Given the description of an element on the screen output the (x, y) to click on. 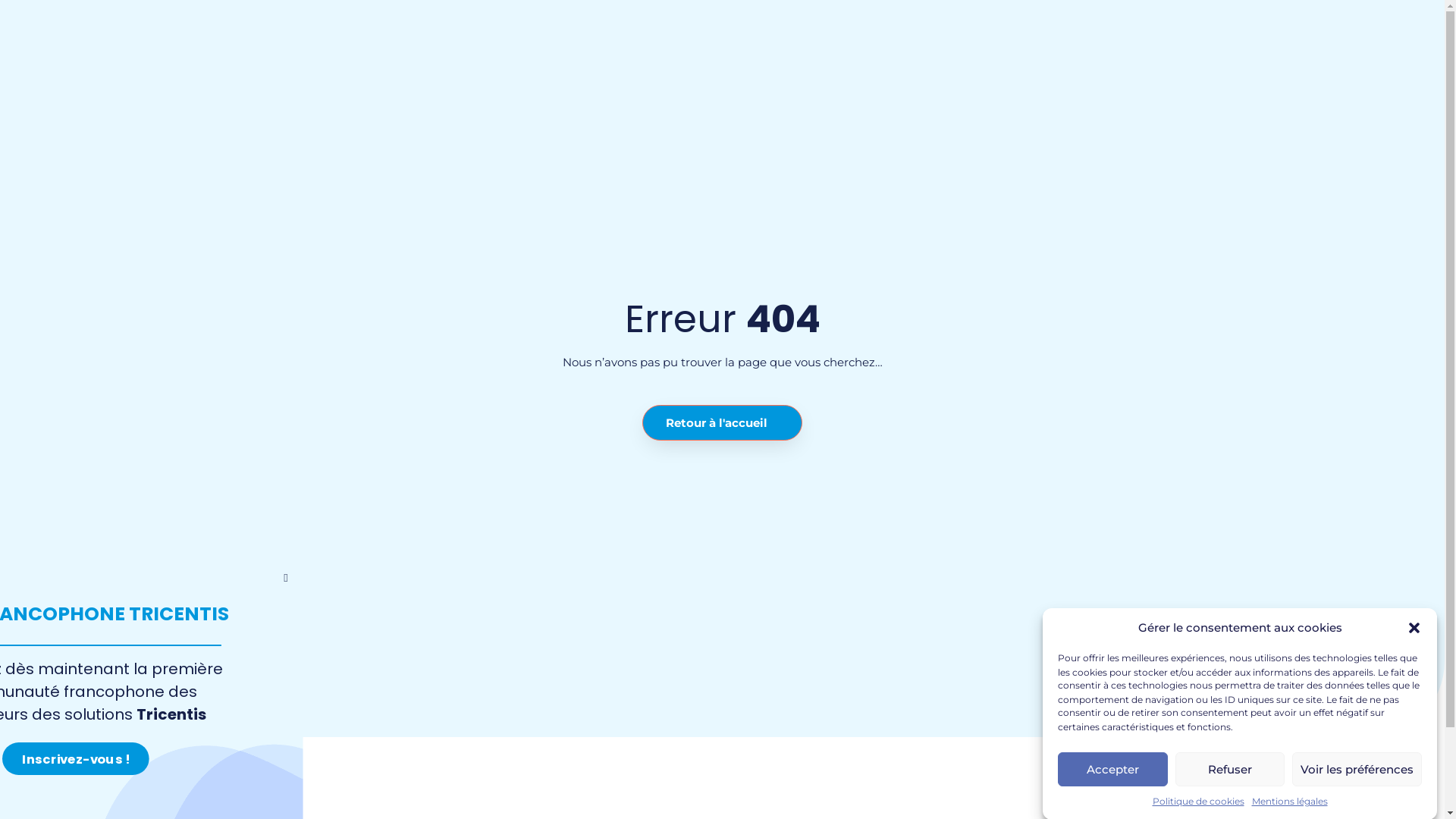
Accepter Element type: text (1112, 769)
Politique de cookies Element type: text (1198, 800)
Refuser Element type: text (1230, 769)
